Given the description of an element on the screen output the (x, y) to click on. 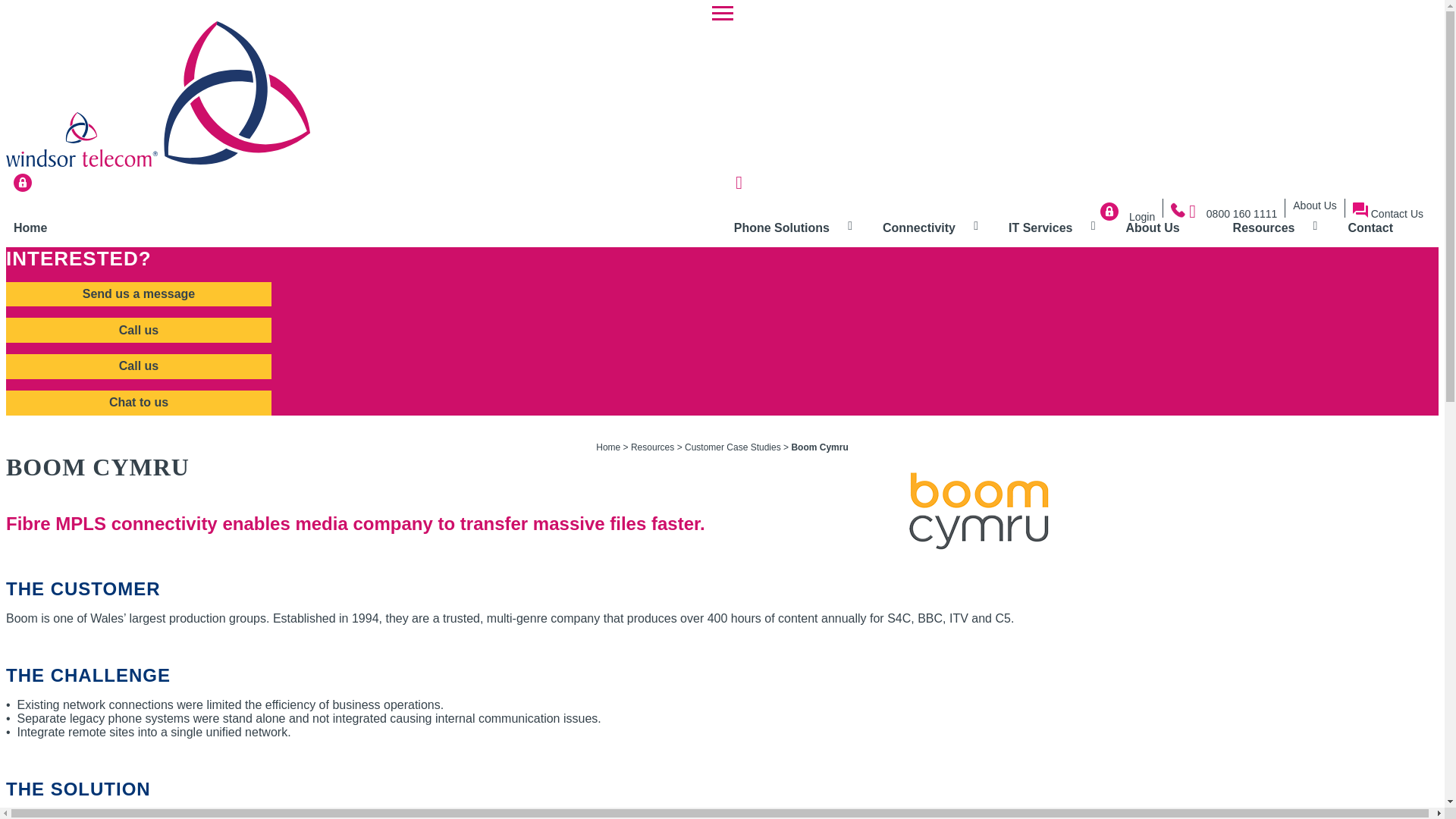
Home (29, 227)
Login (1127, 216)
Contact Us (1387, 214)
Go to Customer Case Studies. (732, 447)
Phone Solutions (781, 227)
Go to Windsor Telecom. (607, 447)
0800 160 1111 (1223, 214)
About Us (1314, 204)
Go to Resources. (652, 447)
